Given the description of an element on the screen output the (x, y) to click on. 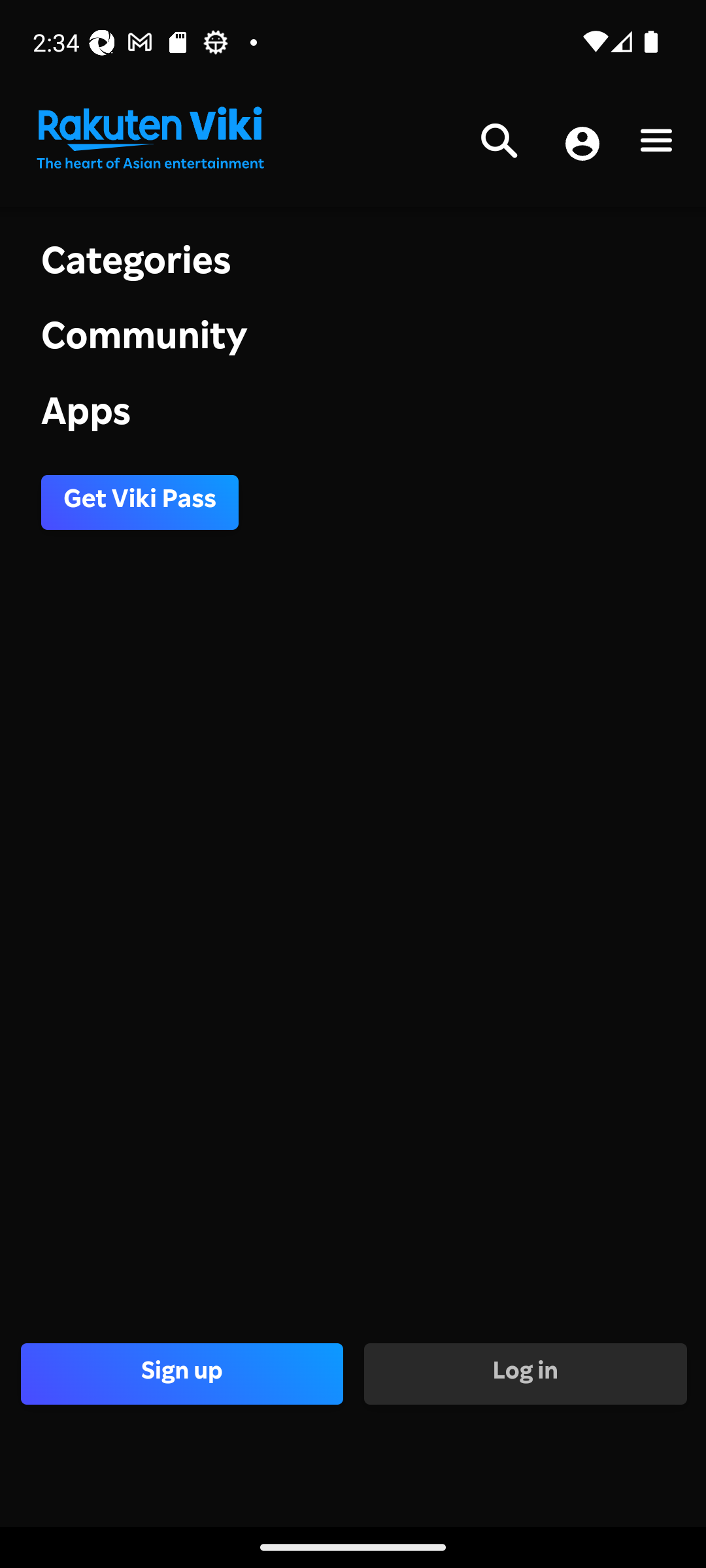
Go to homepage Rakuten Viki (149, 138)
nav.session.login (582, 144)
Settings menu (655, 143)
Categories (353, 263)
Community (353, 340)
Apps (353, 415)
Get Viki Pass (140, 501)
Sign up (181, 1373)
Log in (524, 1373)
